Given the description of an element on the screen output the (x, y) to click on. 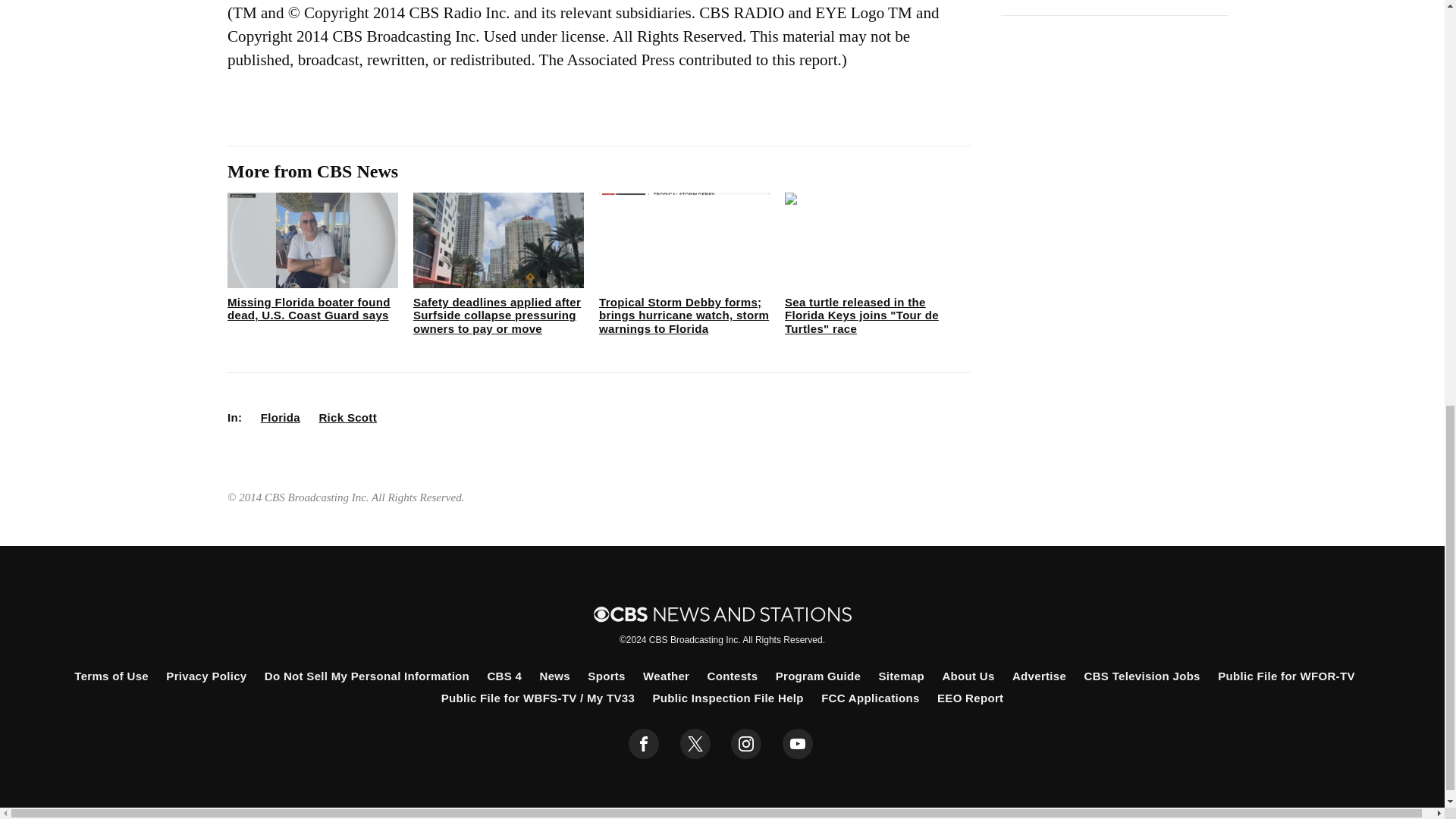
instagram (745, 743)
facebook (643, 743)
youtube (797, 743)
twitter (694, 743)
